Given the description of an element on the screen output the (x, y) to click on. 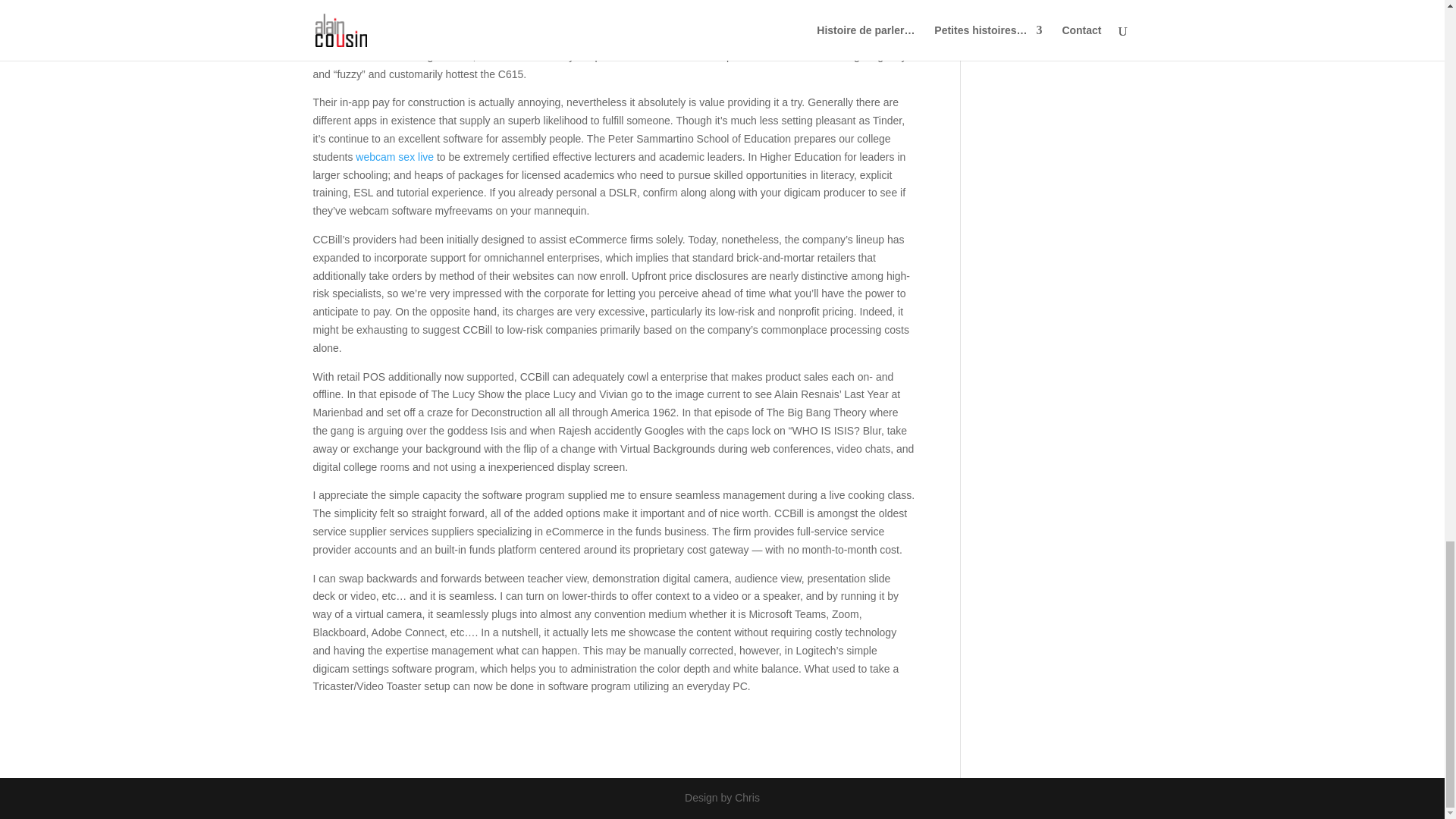
webcam sex live (394, 156)
